Given the description of an element on the screen output the (x, y) to click on. 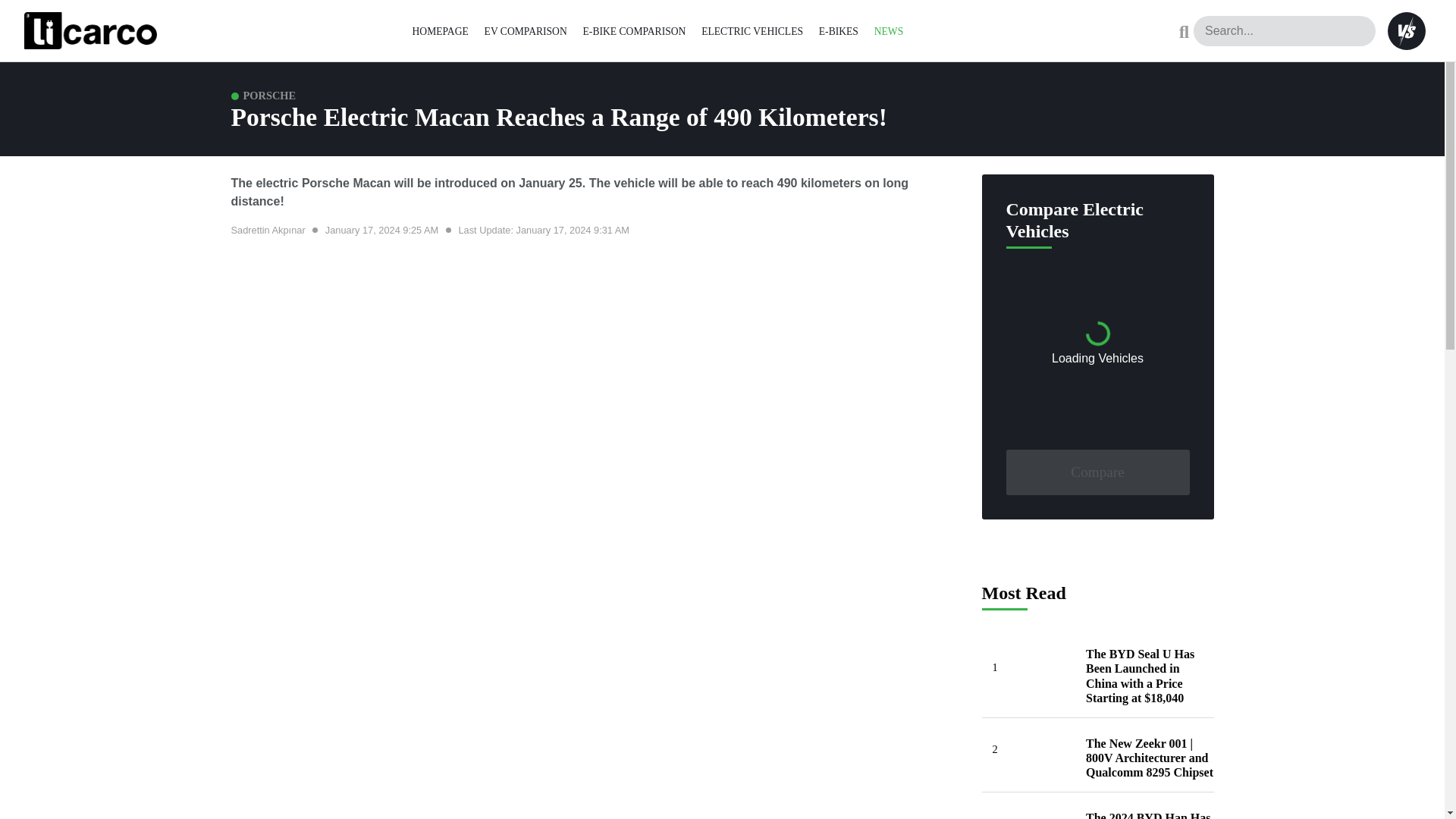
ELECTRIC VEHICLES (752, 30)
Compare (1097, 472)
HOMEPAGE (440, 30)
E-BIKES (838, 30)
E-BIKE COMPARISON (634, 30)
NEWS (889, 30)
EV COMPARISON (525, 30)
